Given the description of an element on the screen output the (x, y) to click on. 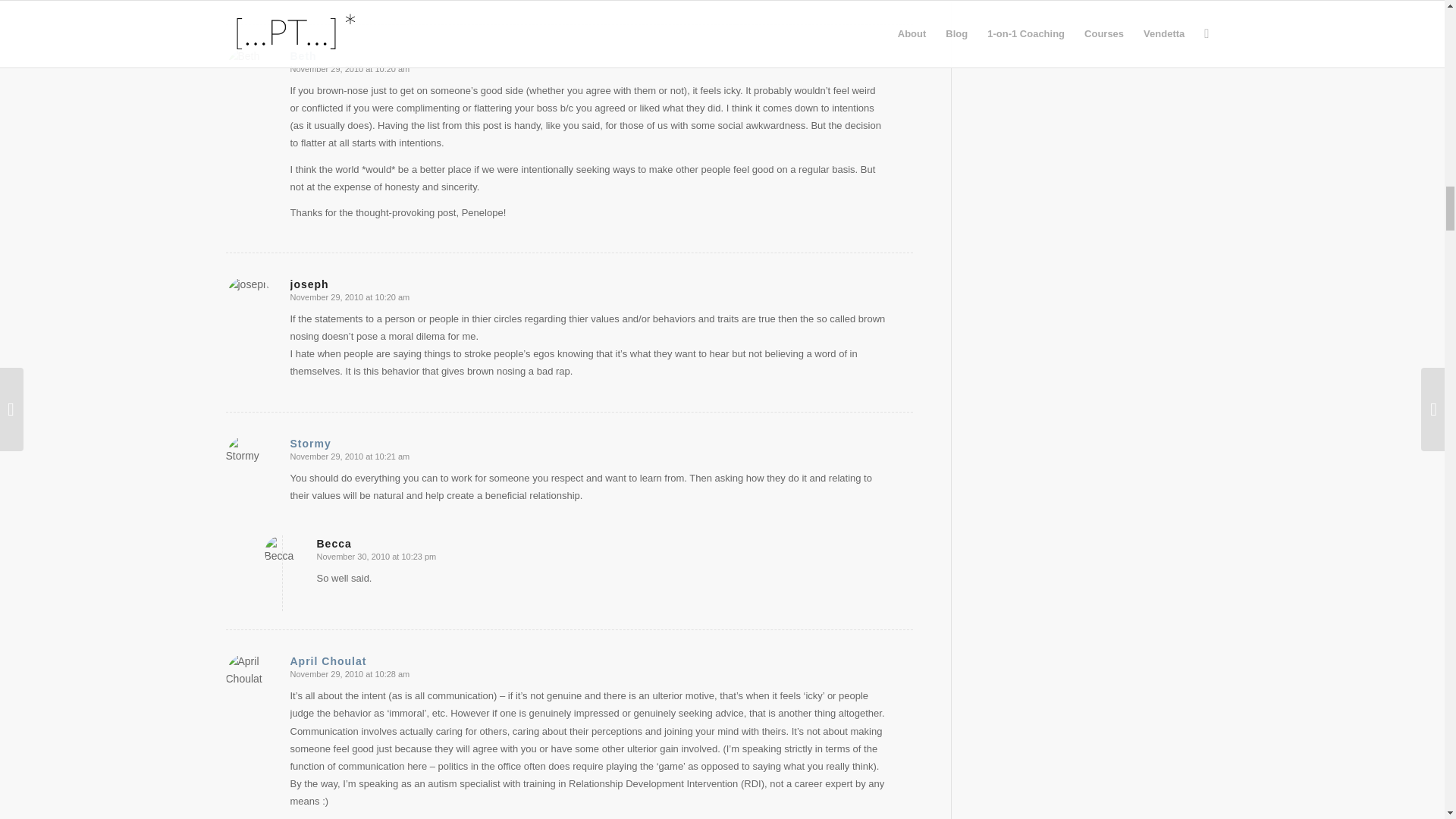
Beth (302, 55)
November 29, 2010 at 10:20 am (349, 68)
November 29, 2010 at 10:20 am (349, 297)
